Given the description of an element on the screen output the (x, y) to click on. 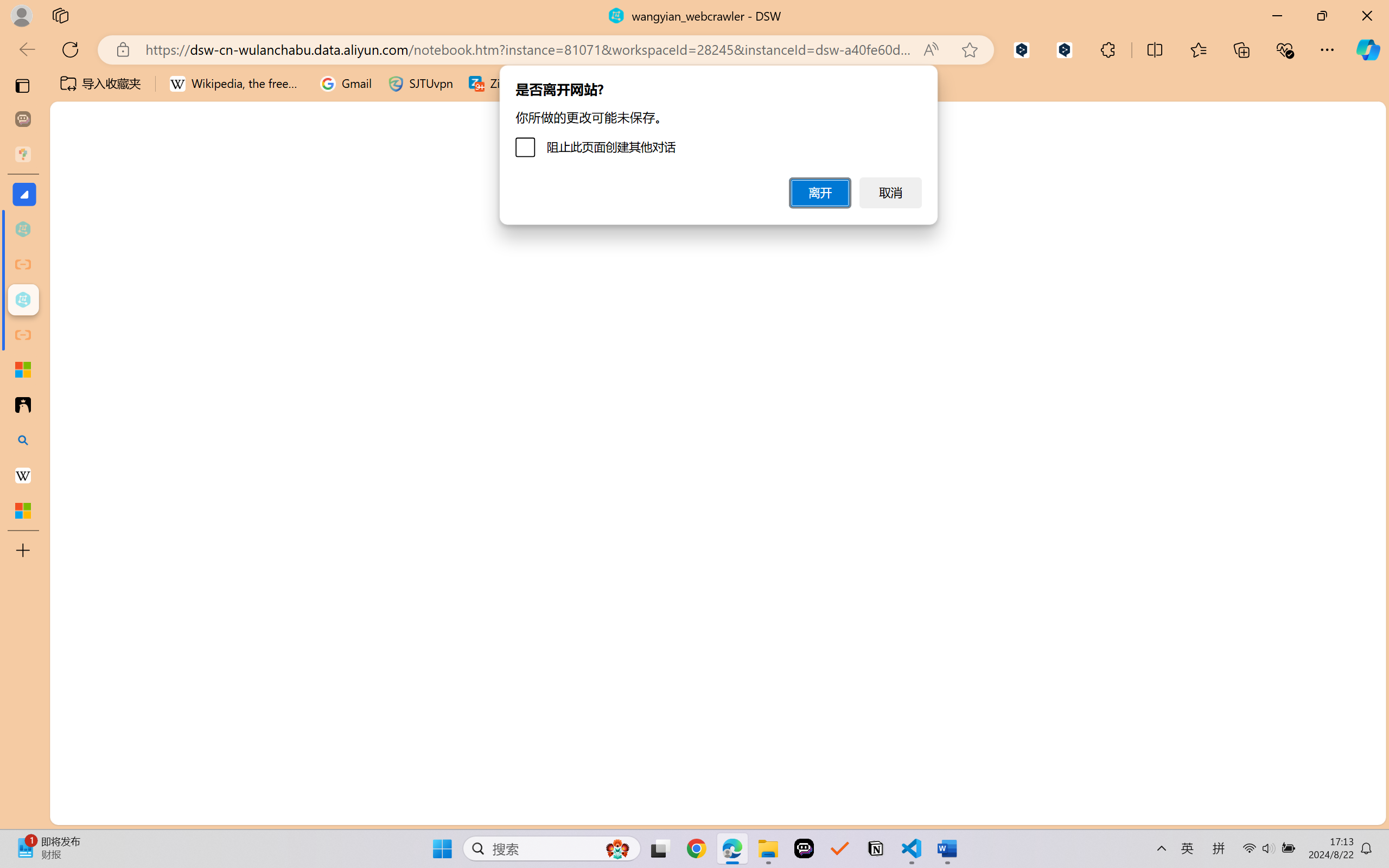
Bulgarian (1271, 507)
Cantonese (Traditional) (1271, 531)
TextBox 7 (580, 454)
Zoom 50% (1365, 837)
Group (380, 46)
Basque (1271, 408)
Afrikaans (1271, 186)
